Given the description of an element on the screen output the (x, y) to click on. 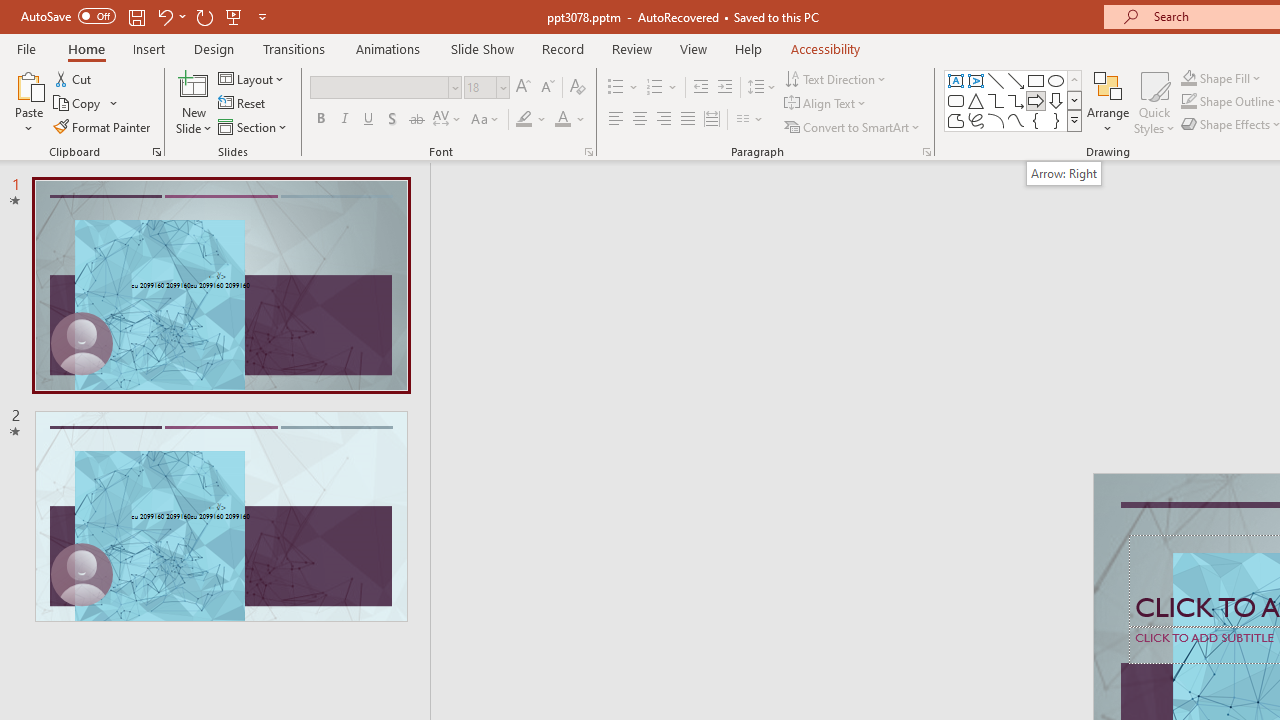
Increase Font Size (522, 87)
Bold (320, 119)
Format Painter (103, 126)
Center (639, 119)
Freeform: Scribble (975, 120)
Freeform: Shape (955, 120)
